Given the description of an element on the screen output the (x, y) to click on. 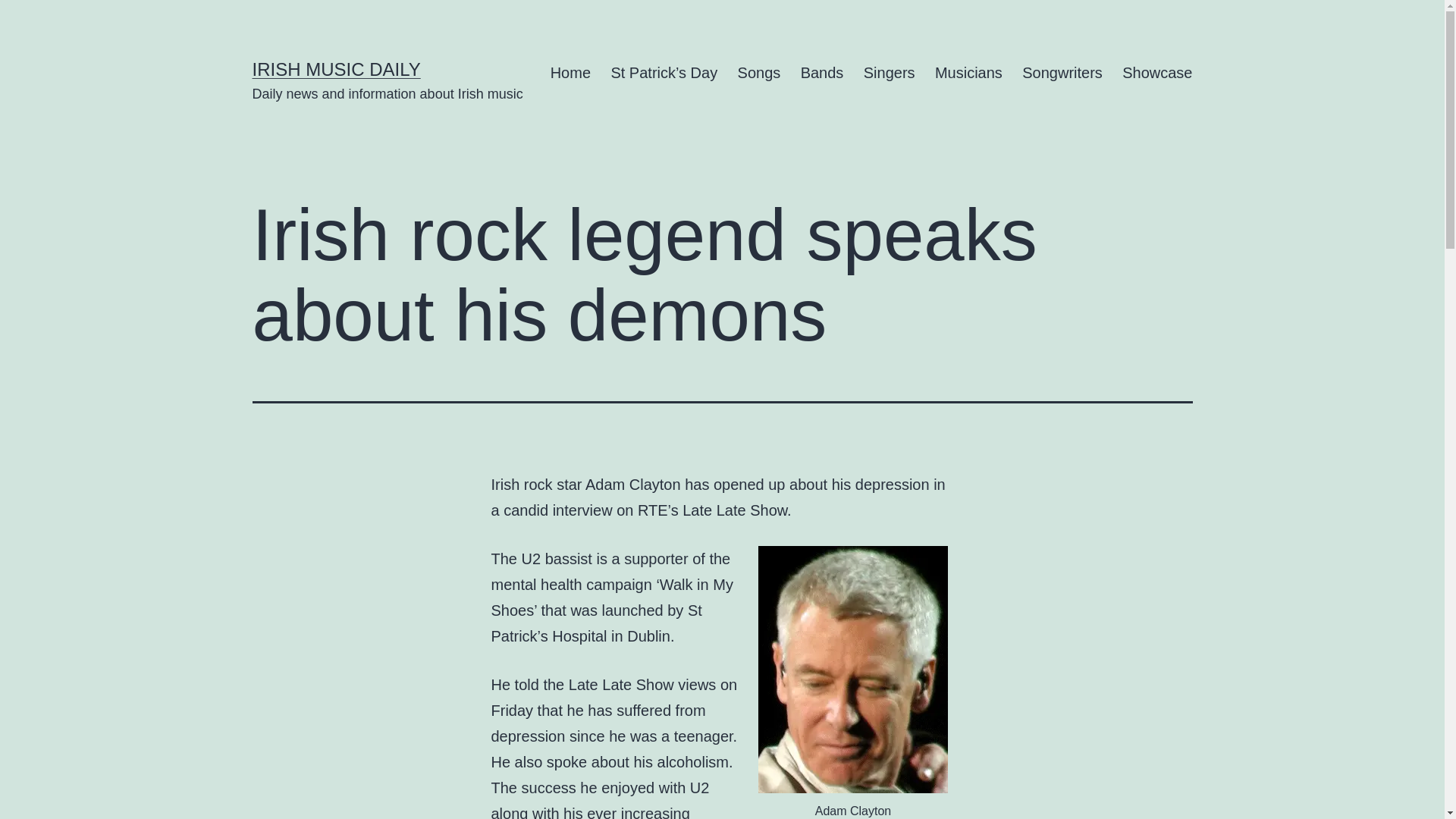
Songs (758, 72)
Bands (821, 72)
Songwriters (1061, 72)
IRISH MUSIC DAILY (335, 68)
Showcase (1157, 72)
Singers (888, 72)
Musicians (967, 72)
Home (569, 72)
